Given the description of an element on the screen output the (x, y) to click on. 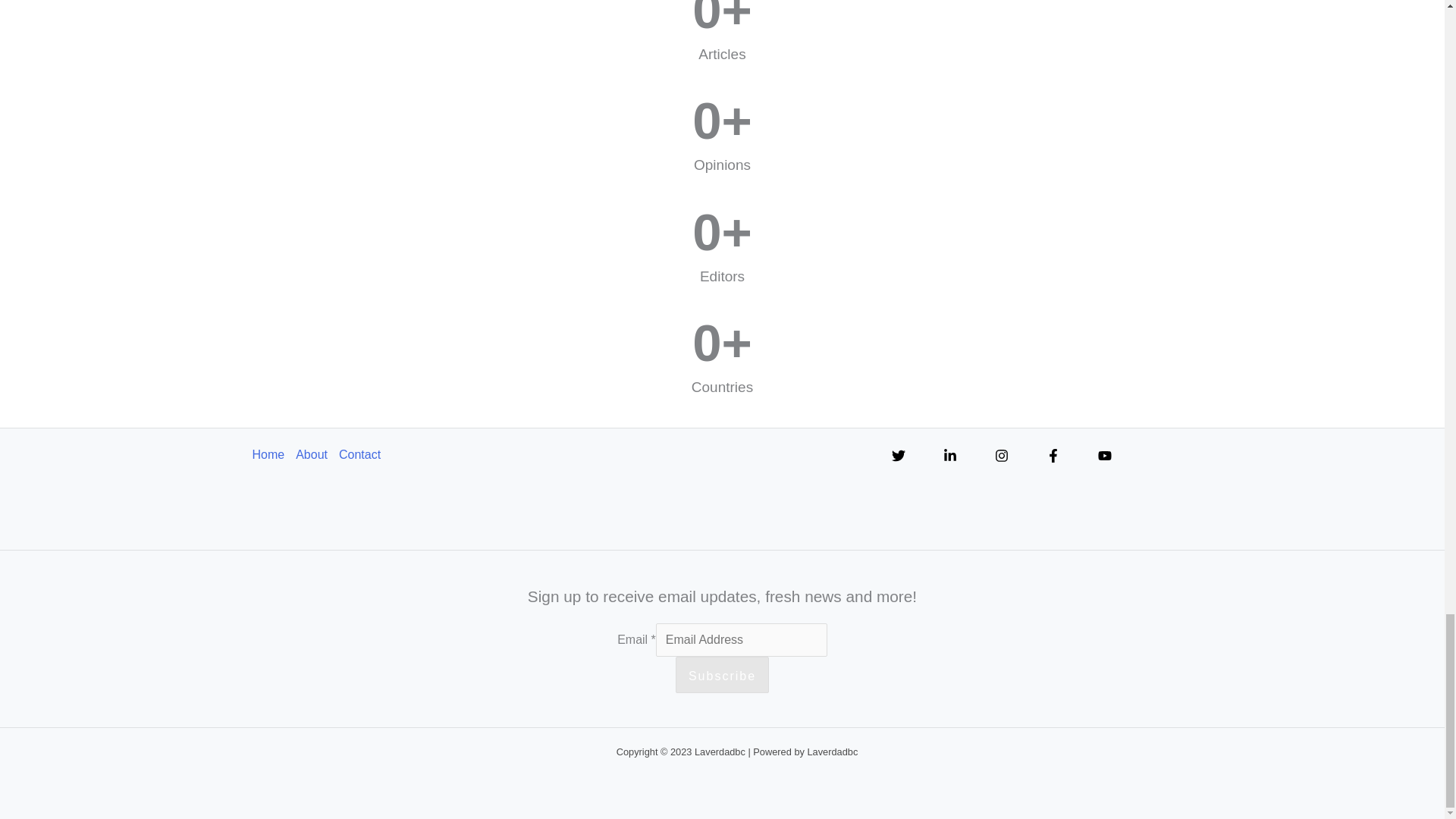
Home (273, 454)
Subscribe (721, 674)
About (317, 454)
Contact (365, 454)
